Given the description of an element on the screen output the (x, y) to click on. 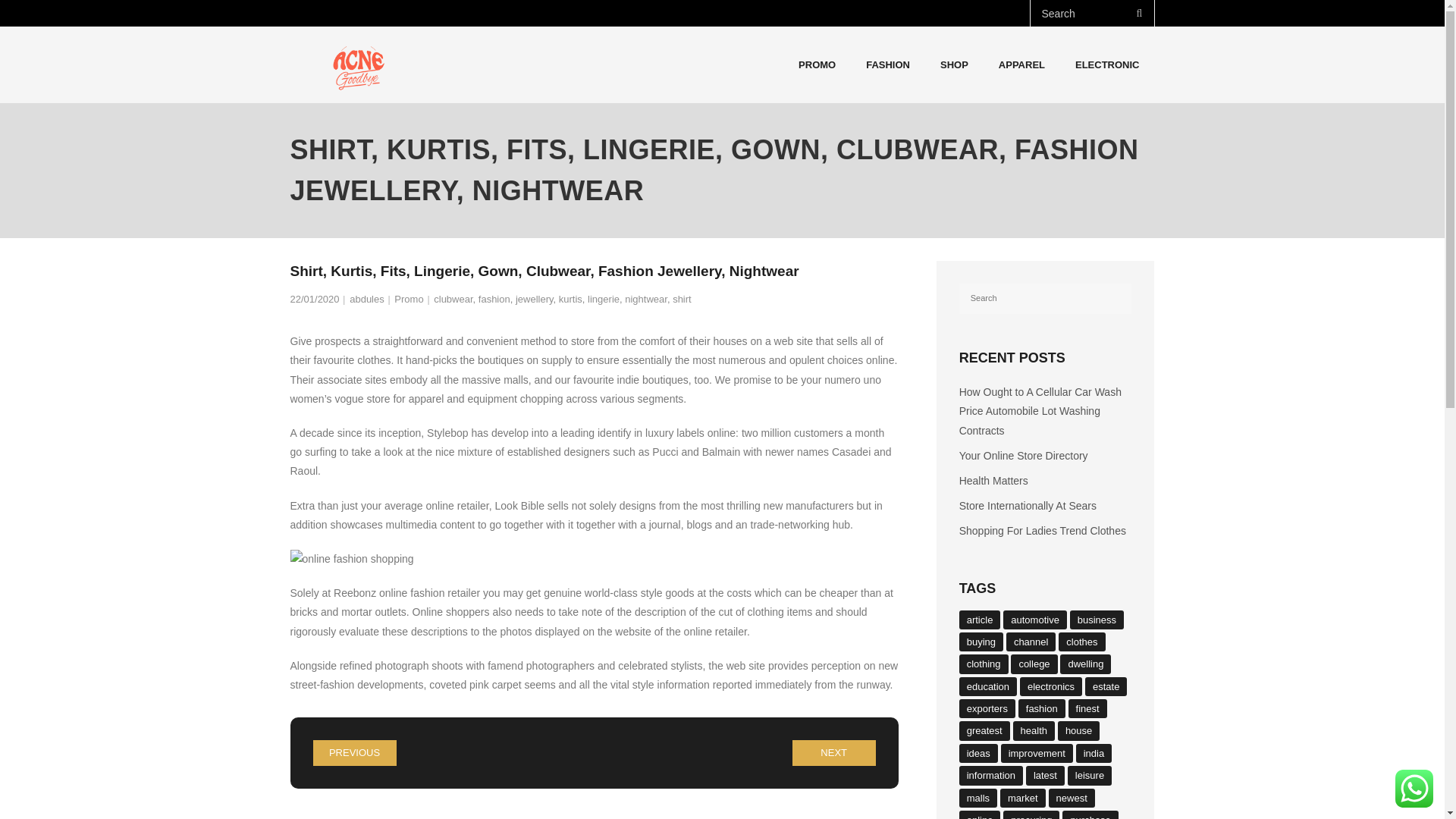
Health Matters (993, 480)
fashion (495, 298)
clothing (984, 663)
kurtis (570, 298)
nightwear (645, 298)
lingerie (604, 298)
shirt (681, 298)
Store Internationally At Sears (1027, 505)
channel (1031, 641)
clubwear (452, 298)
Search (35, 17)
college (1033, 663)
APPAREL (1021, 64)
